Given the description of an element on the screen output the (x, y) to click on. 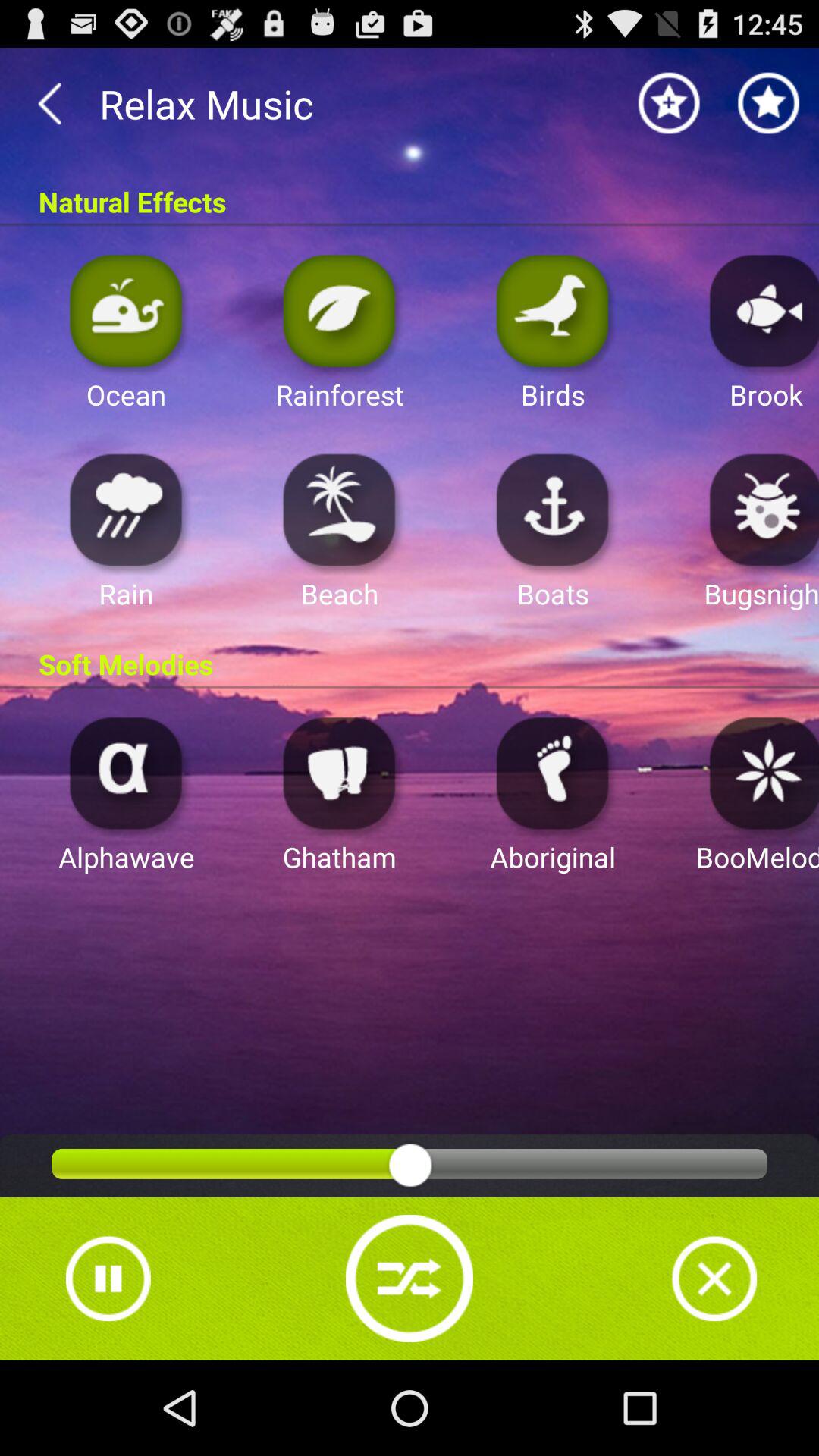
tela do celular com aplicativos (126, 509)
